Given the description of an element on the screen output the (x, y) to click on. 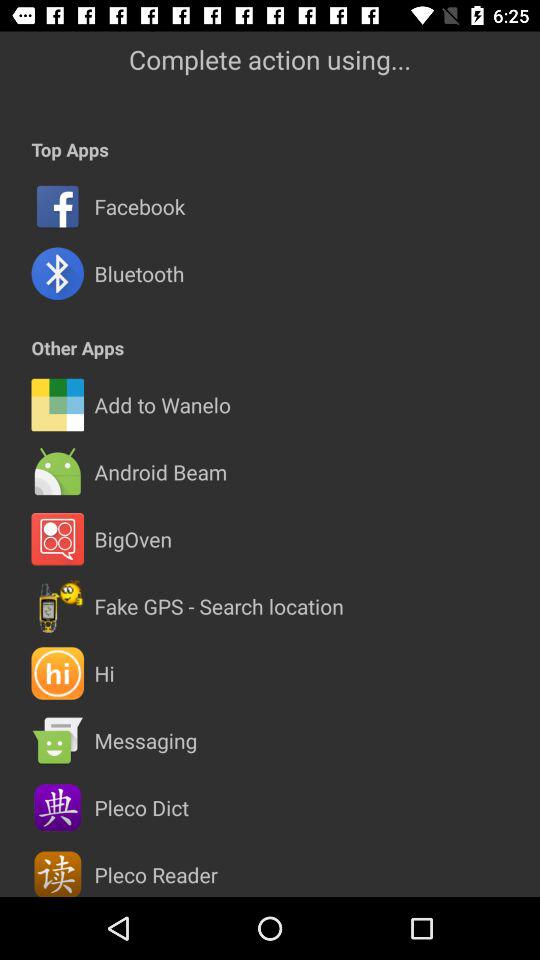
swipe until pleco reader icon (155, 874)
